Given the description of an element on the screen output the (x, y) to click on. 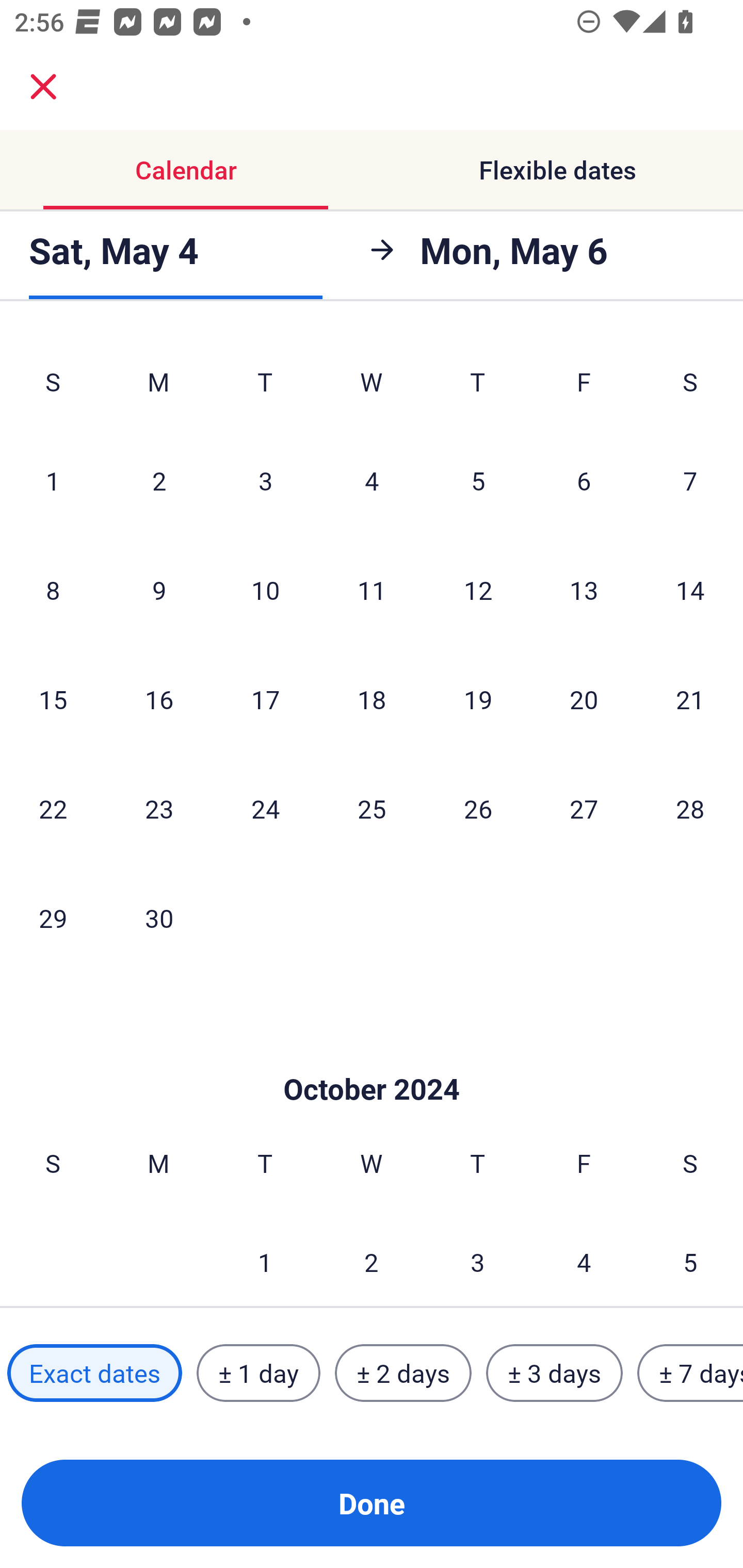
close. (43, 86)
Flexible dates (557, 170)
1 Sunday, September 1, 2024 (53, 480)
2 Monday, September 2, 2024 (159, 480)
3 Tuesday, September 3, 2024 (265, 480)
4 Wednesday, September 4, 2024 (371, 480)
5 Thursday, September 5, 2024 (477, 480)
6 Friday, September 6, 2024 (584, 480)
7 Saturday, September 7, 2024 (690, 480)
8 Sunday, September 8, 2024 (53, 589)
9 Monday, September 9, 2024 (159, 589)
10 Tuesday, September 10, 2024 (265, 589)
11 Wednesday, September 11, 2024 (371, 589)
12 Thursday, September 12, 2024 (477, 589)
13 Friday, September 13, 2024 (584, 589)
14 Saturday, September 14, 2024 (690, 589)
15 Sunday, September 15, 2024 (53, 699)
16 Monday, September 16, 2024 (159, 699)
17 Tuesday, September 17, 2024 (265, 699)
18 Wednesday, September 18, 2024 (371, 699)
19 Thursday, September 19, 2024 (477, 699)
20 Friday, September 20, 2024 (584, 699)
21 Saturday, September 21, 2024 (690, 699)
22 Sunday, September 22, 2024 (53, 807)
23 Monday, September 23, 2024 (159, 807)
24 Tuesday, September 24, 2024 (265, 807)
25 Wednesday, September 25, 2024 (371, 807)
26 Thursday, September 26, 2024 (477, 807)
27 Friday, September 27, 2024 (584, 807)
28 Saturday, September 28, 2024 (690, 807)
29 Sunday, September 29, 2024 (53, 917)
30 Monday, September 30, 2024 (159, 917)
Skip to Done (371, 1058)
1 Tuesday, October 1, 2024 (264, 1257)
2 Wednesday, October 2, 2024 (371, 1257)
3 Thursday, October 3, 2024 (477, 1257)
4 Friday, October 4, 2024 (584, 1257)
5 Saturday, October 5, 2024 (690, 1257)
Exact dates (94, 1372)
± 1 day (258, 1372)
± 2 days (403, 1372)
± 3 days (553, 1372)
± 7 days (690, 1372)
Done (371, 1502)
